Given the description of an element on the screen output the (x, y) to click on. 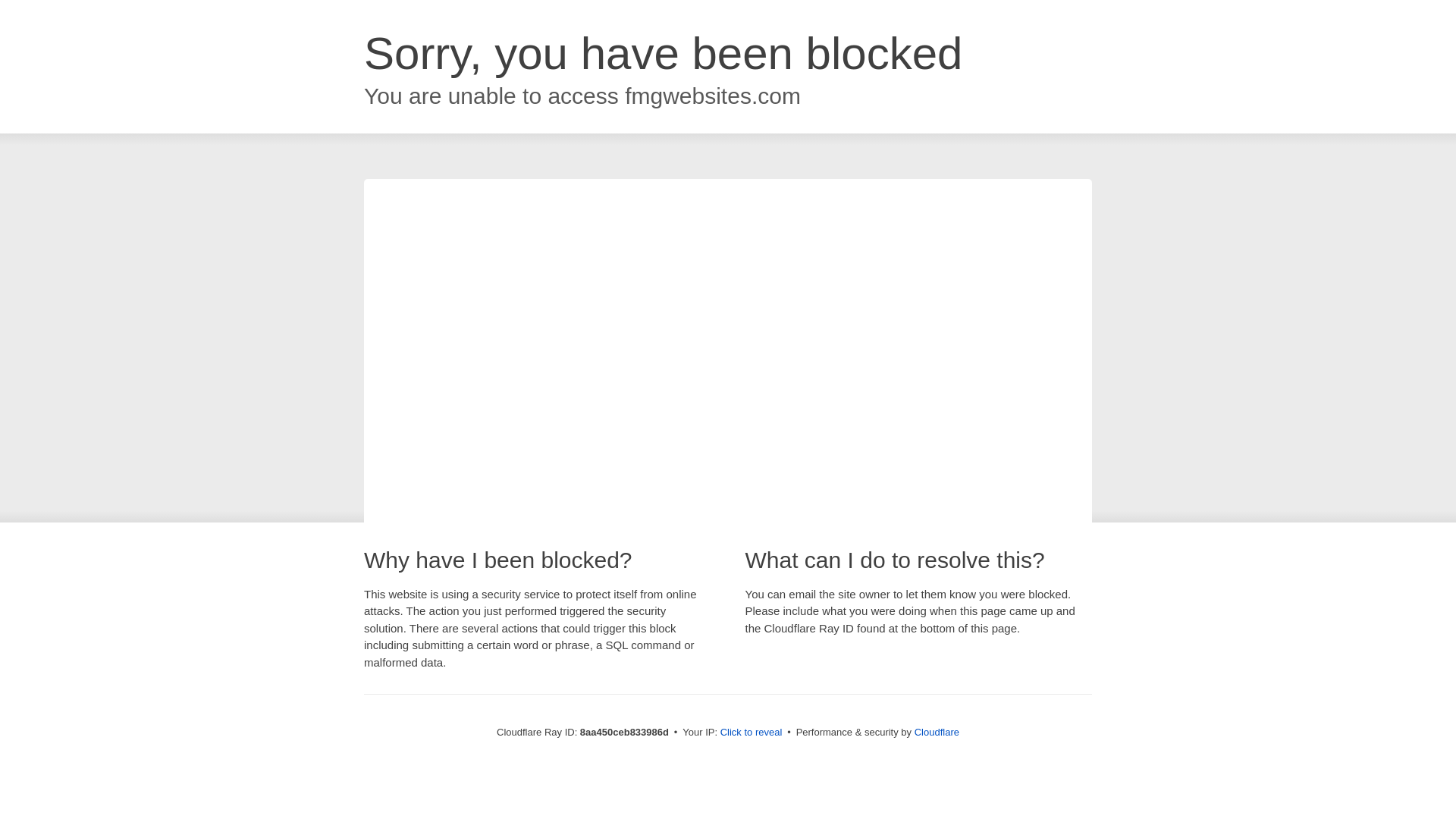
Cloudflare (936, 731)
Click to reveal (751, 732)
